Given the description of an element on the screen output the (x, y) to click on. 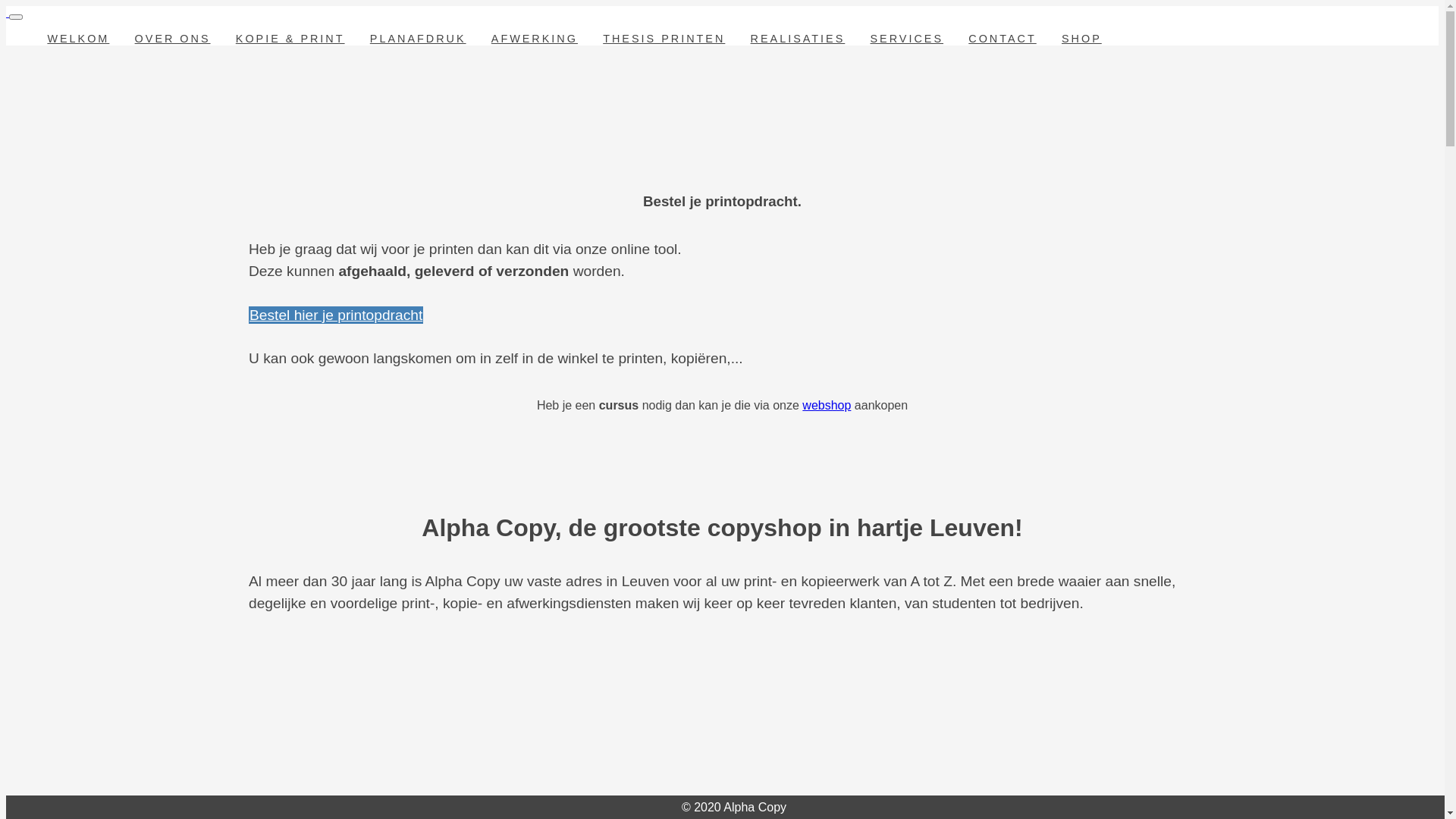
OVER ONS Element type: text (172, 38)
KOPIE & PRINT Element type: text (289, 38)
WELKOM Element type: text (78, 38)
Bestel hier je printopdracht Element type: text (335, 314)
CONTACT Element type: text (1002, 38)
REALISATIES Element type: text (797, 38)
SERVICES Element type: text (906, 38)
THESIS PRINTEN Element type: text (664, 38)
PLANAFDRUK Element type: text (417, 38)
webshop Element type: text (826, 404)
AFWERKING Element type: text (534, 38)
SHOP Element type: text (1082, 38)
